Given the description of an element on the screen output the (x, y) to click on. 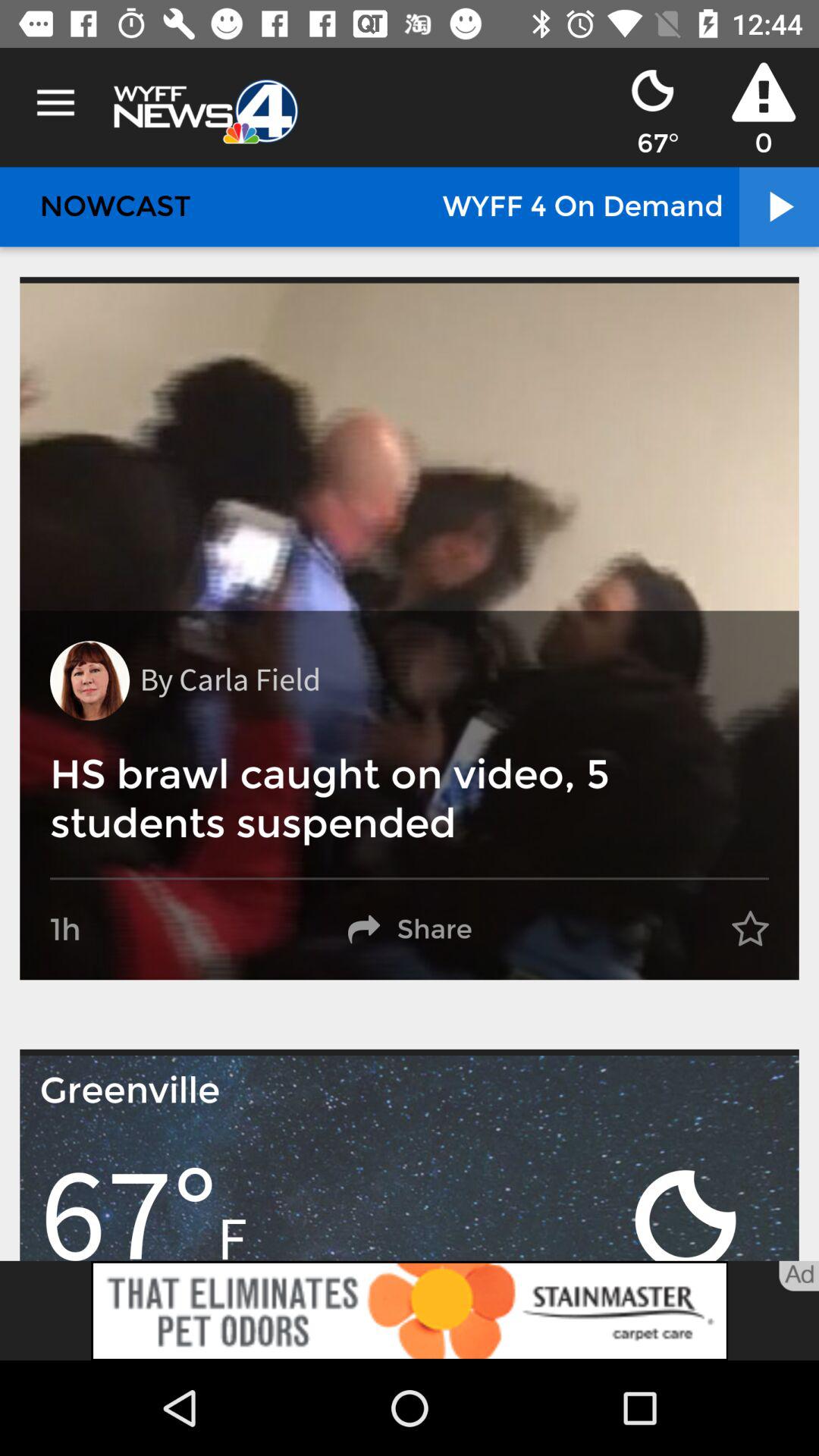
advertising (409, 1310)
